Given the description of an element on the screen output the (x, y) to click on. 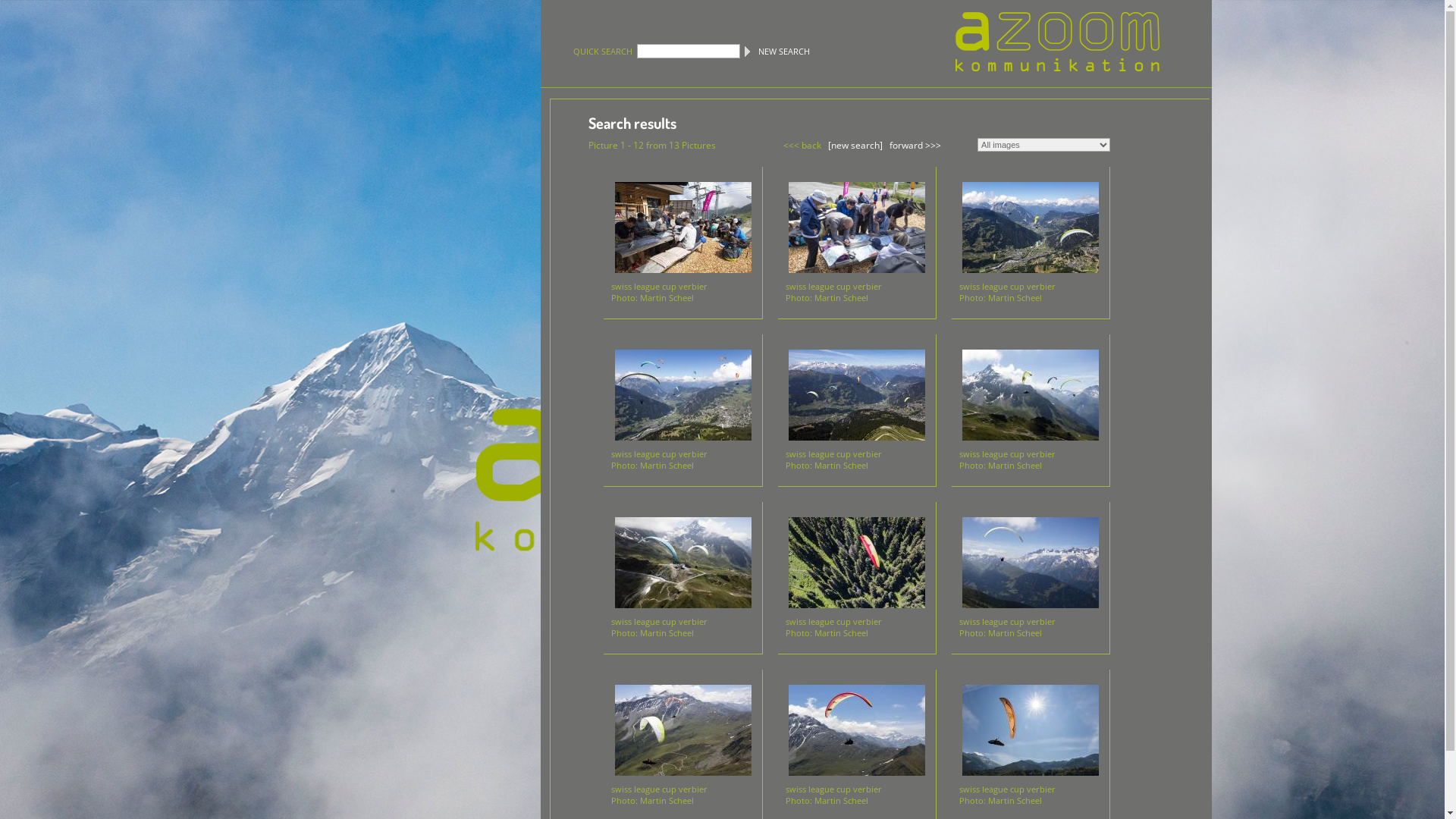
Paragliding: swiss league cup verbier Element type: hover (683, 729)
Paragliding: swiss league cup verbier Element type: hover (683, 562)
Paragliding: swiss league cup verbier Element type: hover (1030, 394)
  Element type: text (1071, 21)
Paragliding: swiss league cup verbier Element type: hover (1030, 227)
Paragliding: swiss league cup verbier Element type: hover (683, 227)
forward >>> Element type: text (915, 144)
Paragliding: swiss league cup verbier Element type: hover (683, 394)
Paragliding: swiss league cup verbier Element type: hover (856, 562)
  Element type: text (1071, 65)
[new search] Element type: text (855, 144)
Paragliding: swiss league cup verbier Element type: hover (856, 729)
Paragliding: swiss league cup verbier Element type: hover (1030, 729)
Paragliding: swiss league cup verbier Element type: hover (1030, 562)
Paragliding: swiss league cup verbier Element type: hover (856, 227)
Paragliding: swiss league cup verbier Element type: hover (856, 394)
NEW SEARCH Element type: text (783, 50)
